Given the description of an element on the screen output the (x, y) to click on. 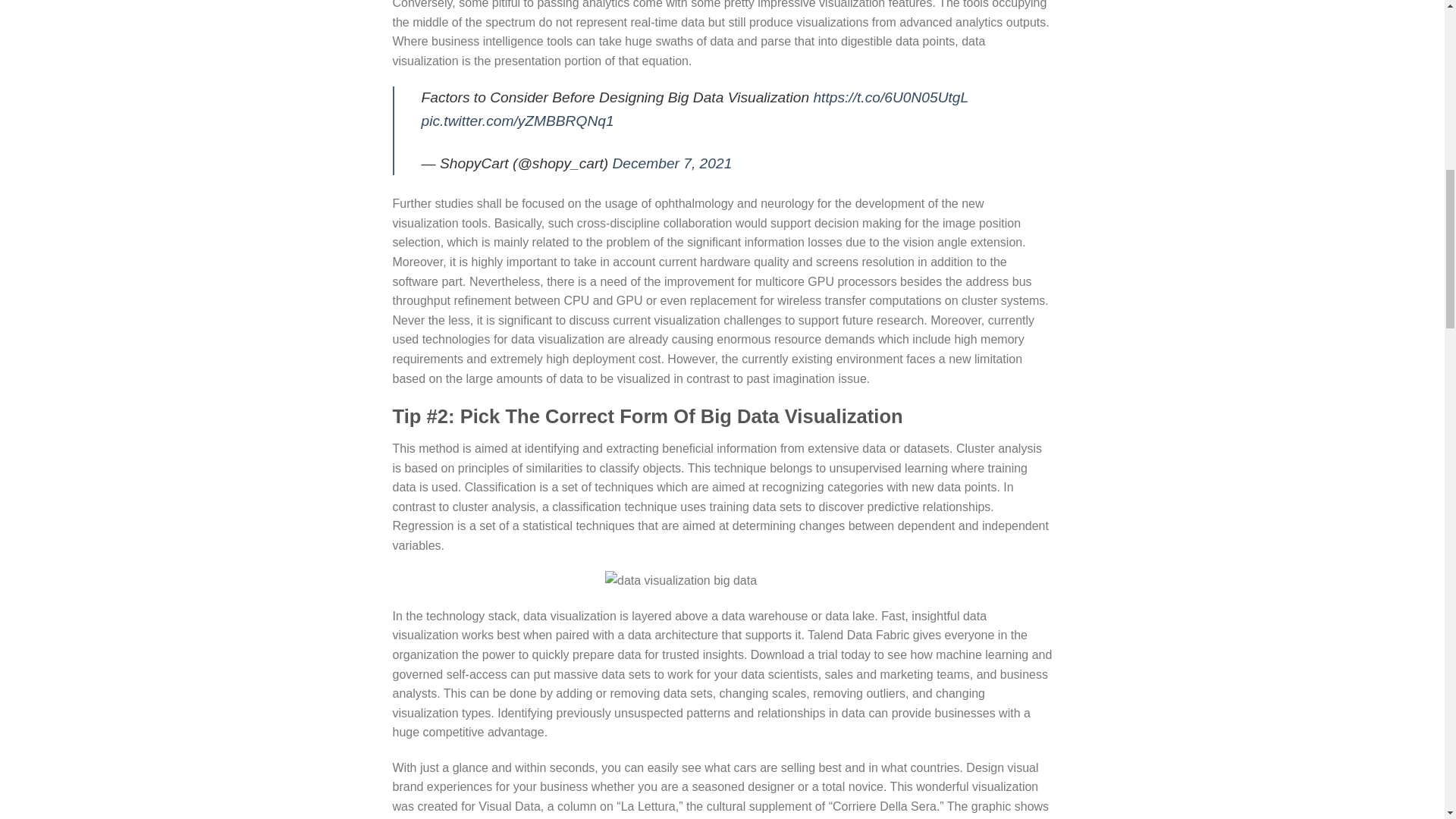
December 7, 2021 (671, 163)
